Given the description of an element on the screen output the (x, y) to click on. 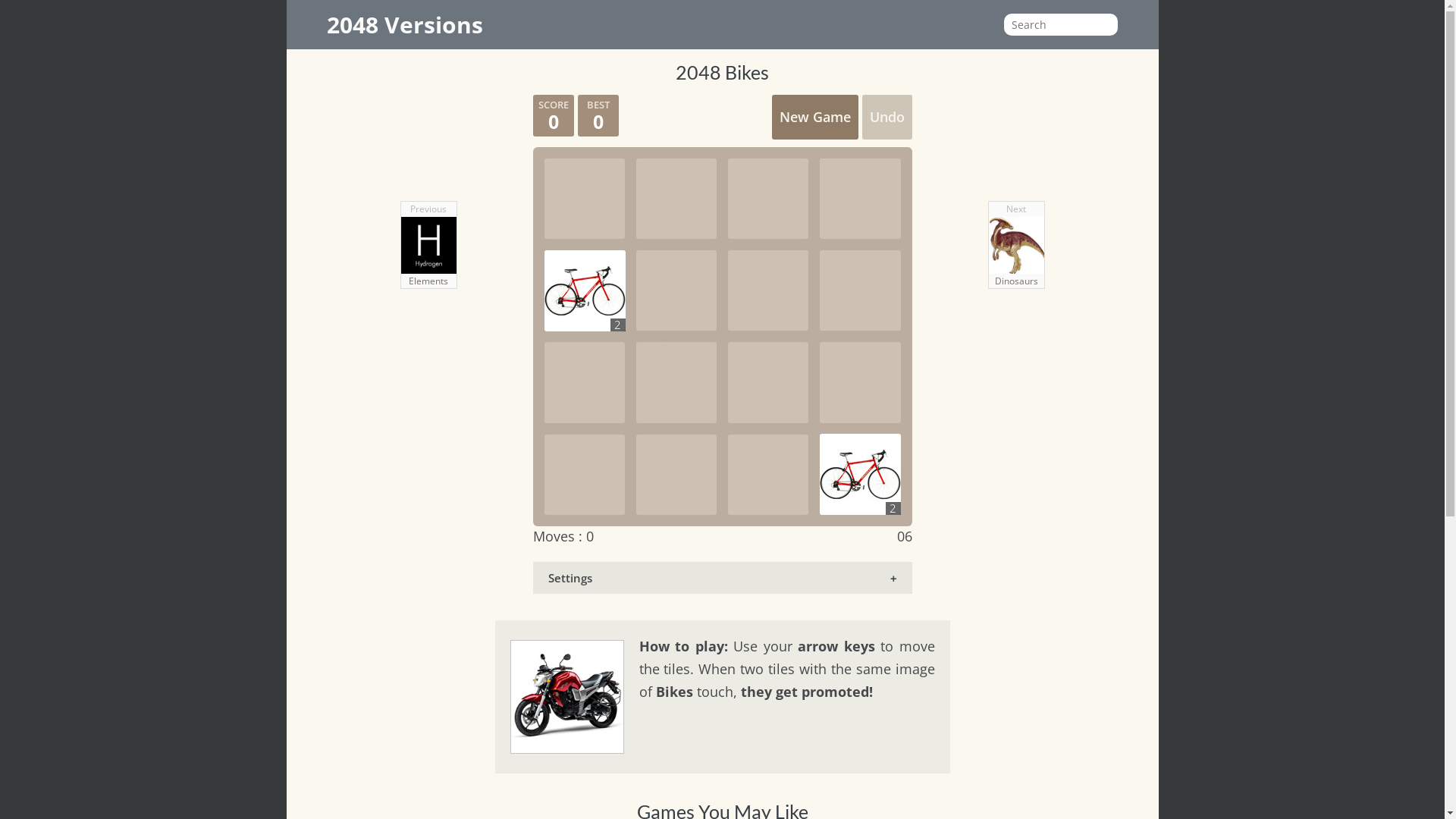
New Game Element type: text (814, 116)
Undo Element type: text (886, 116)
2048 Versions Element type: text (404, 24)
Settings Element type: text (721, 577)
